Given the description of an element on the screen output the (x, y) to click on. 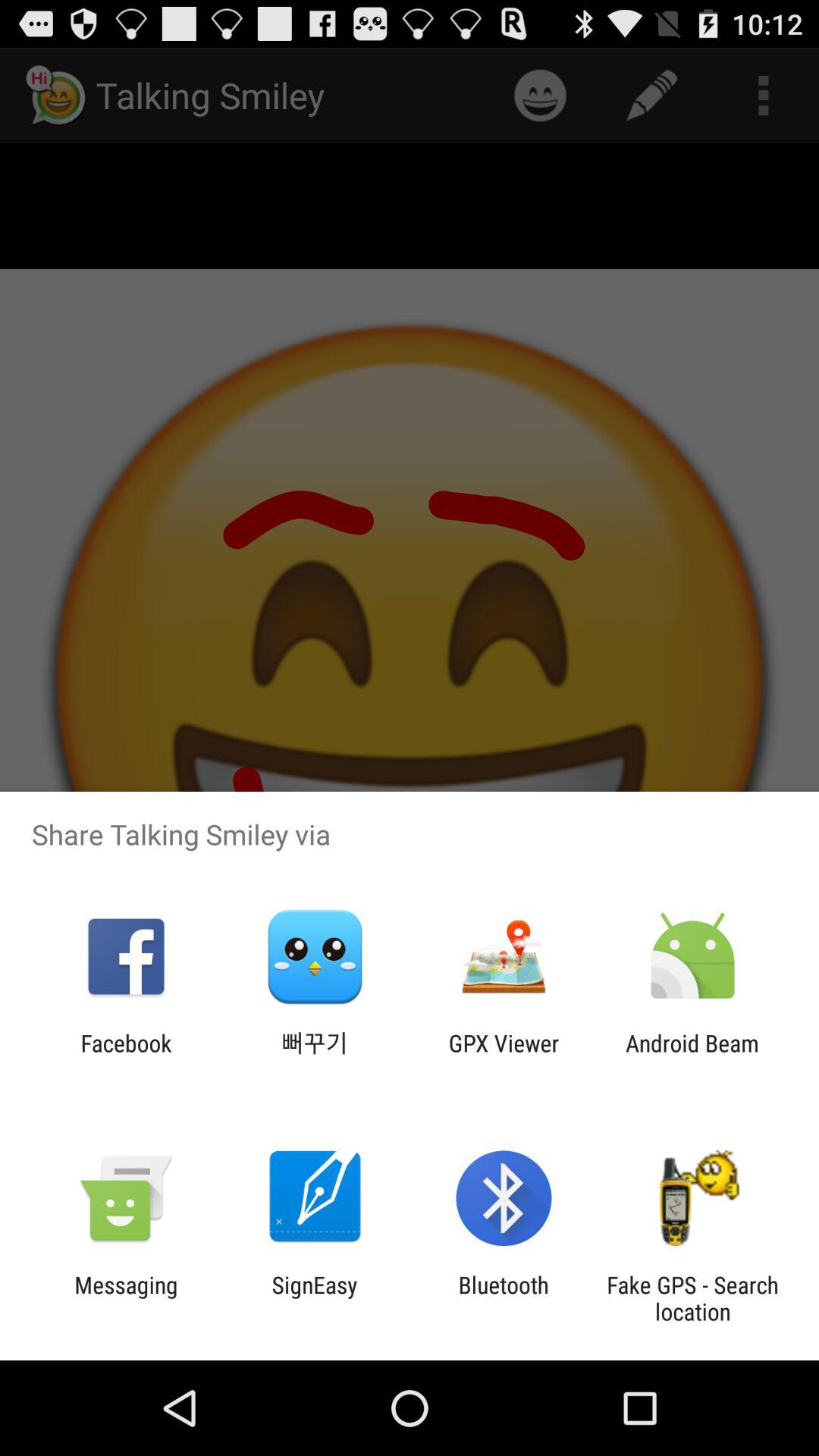
turn on the icon next to signeasy app (126, 1298)
